Given the description of an element on the screen output the (x, y) to click on. 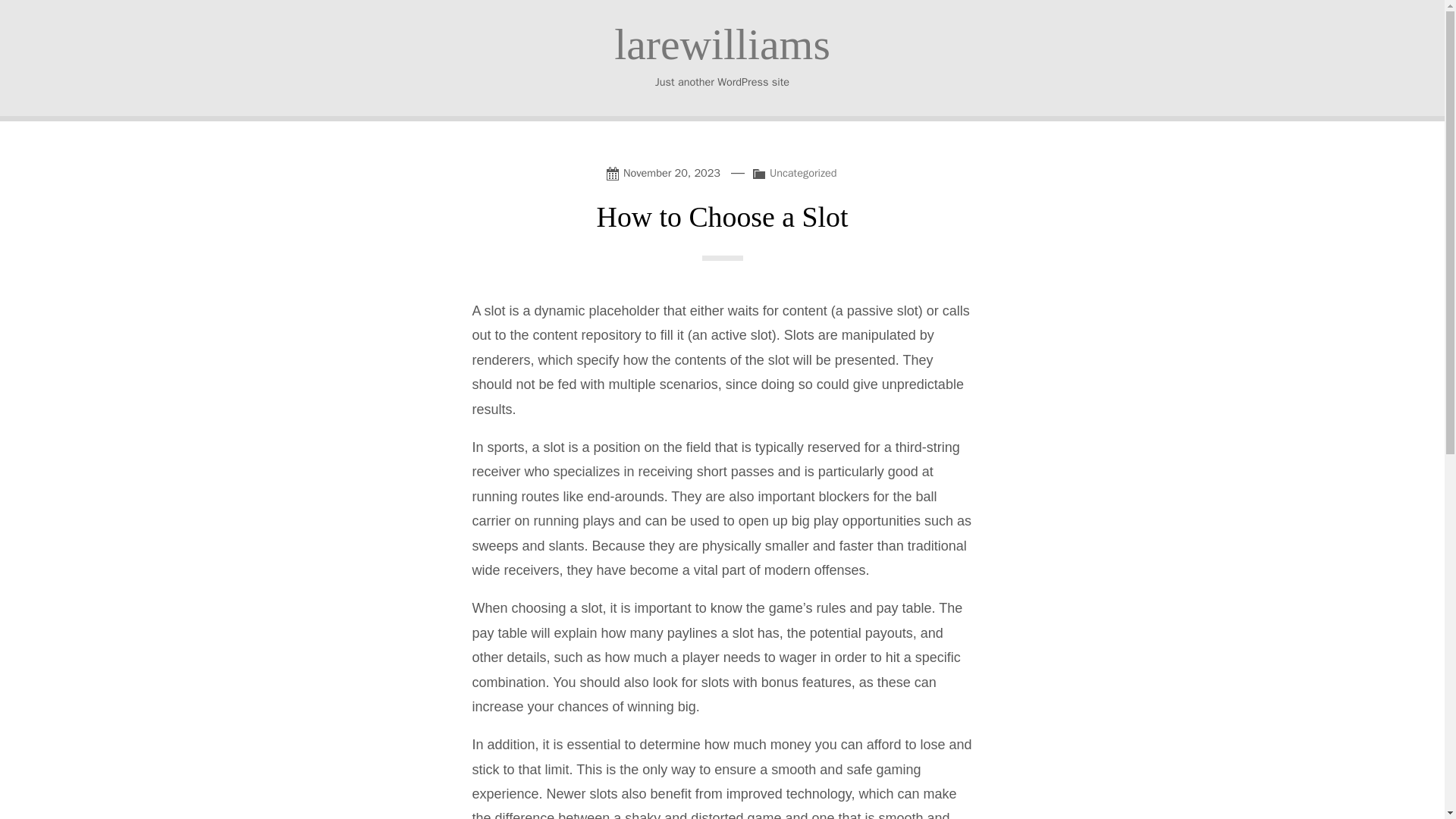
Uncategorized (803, 172)
larewilliams (721, 43)
